Given the description of an element on the screen output the (x, y) to click on. 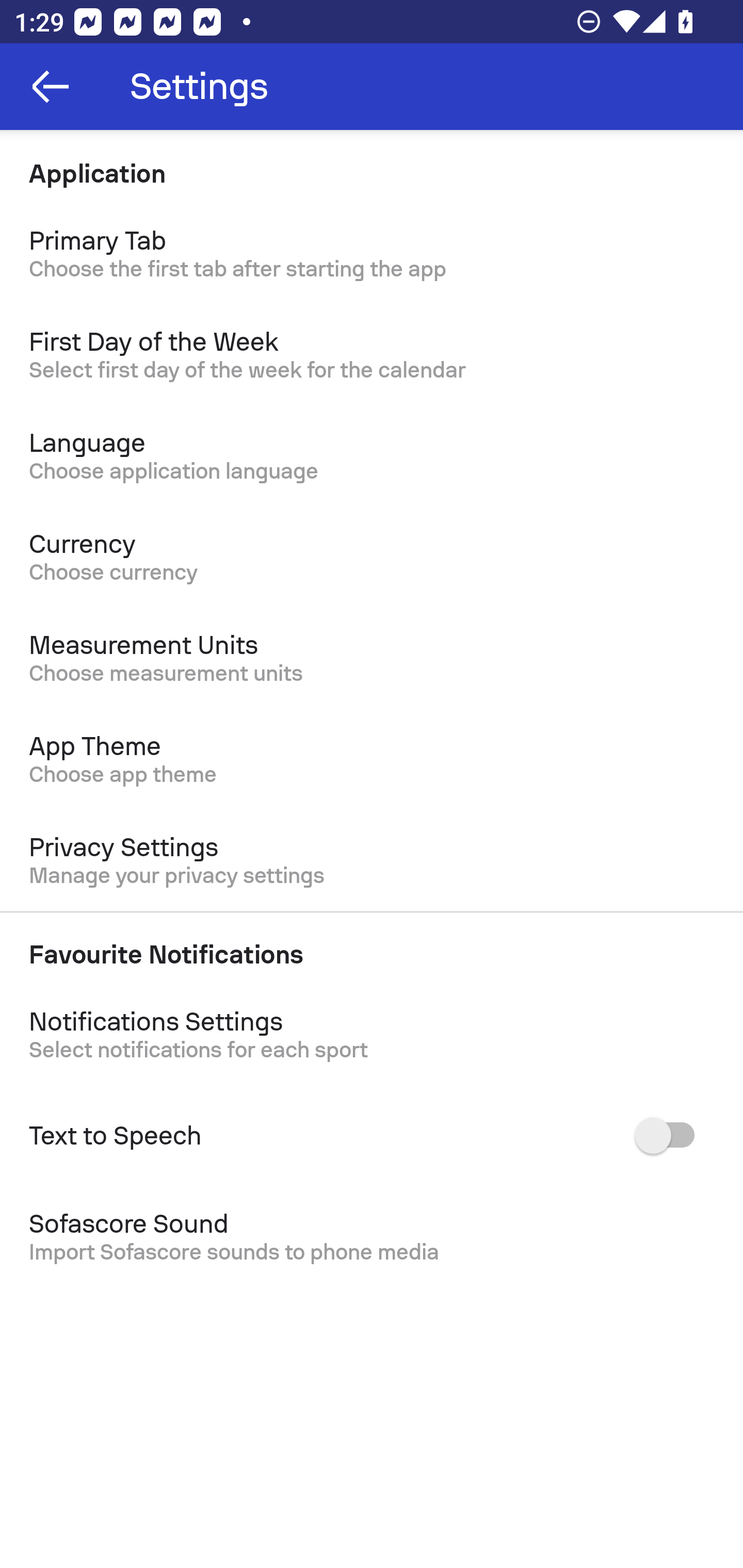
Navigate up (50, 86)
Language Choose application language (371, 456)
Currency Choose currency (371, 557)
Measurement Units Choose measurement units (371, 658)
App Theme Choose app theme (371, 758)
Privacy Settings Manage your privacy settings (371, 860)
Text to Speech (371, 1135)
